Given the description of an element on the screen output the (x, y) to click on. 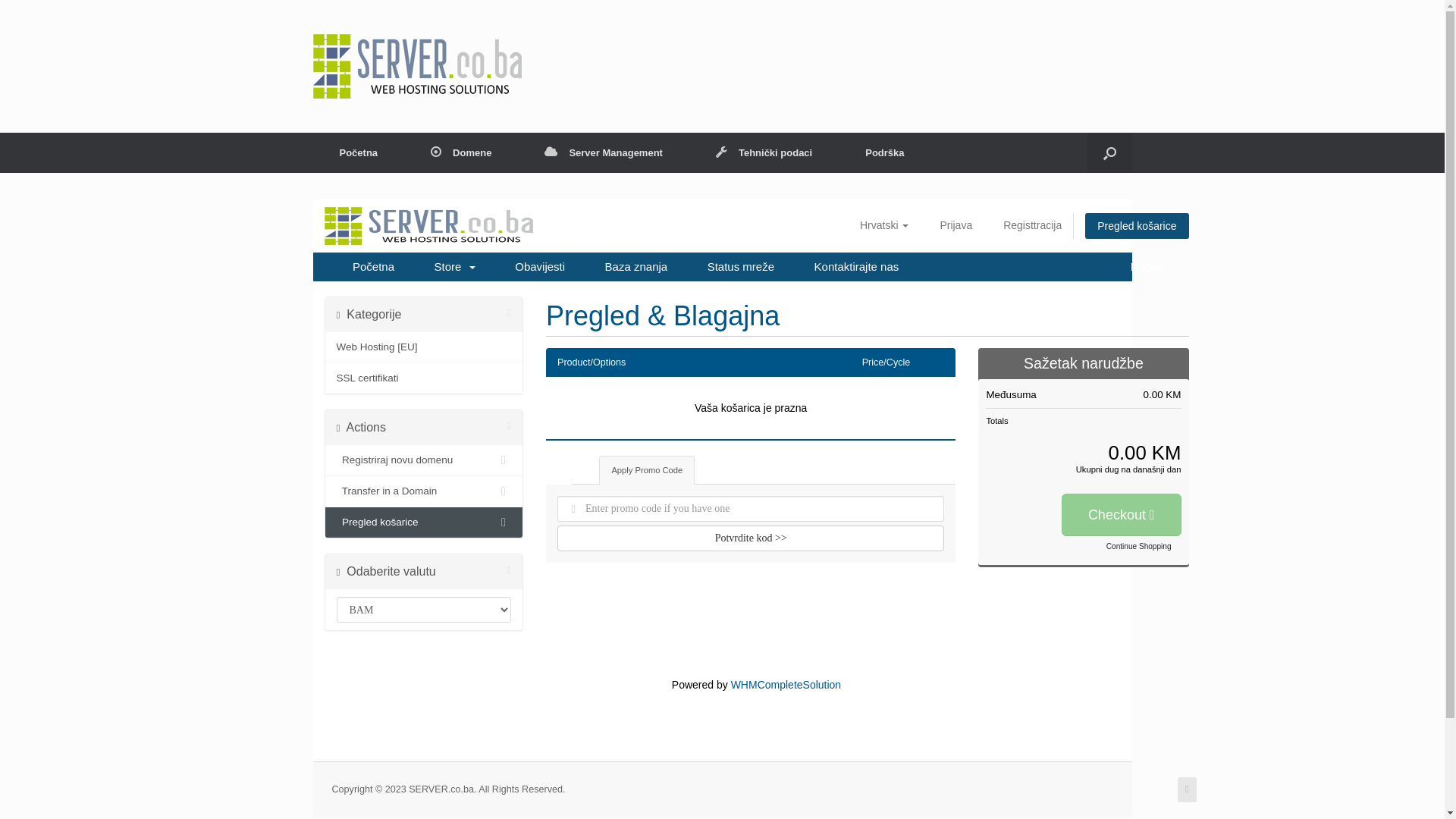
Web Hosting [EU] Element type: text (423, 347)
Store   Element type: text (454, 266)
Baza znanja Element type: text (636, 266)
SSL certifikati Element type: text (423, 378)
Potvrdite kod >> Element type: text (750, 538)
Prijava Element type: text (955, 225)
WHMCompleteSolution Element type: text (786, 684)
Obavijesti Element type: text (539, 266)
Apply Promo Code Element type: text (646, 469)
  Transfer in a Domain Element type: text (423, 491)
  Registriraj novu domenu Element type: text (423, 460)
Continue Shopping Element type: text (1138, 546)
Server Management Element type: text (603, 152)
Hrvatski Element type: text (884, 225)
Registtracija Element type: text (1032, 225)
Checkout Element type: text (1121, 514)
Kontaktirajte nas Element type: text (856, 266)
Domene Element type: text (460, 152)
SERVER.co.ba Element type: hover (416, 66)
